Given the description of an element on the screen output the (x, y) to click on. 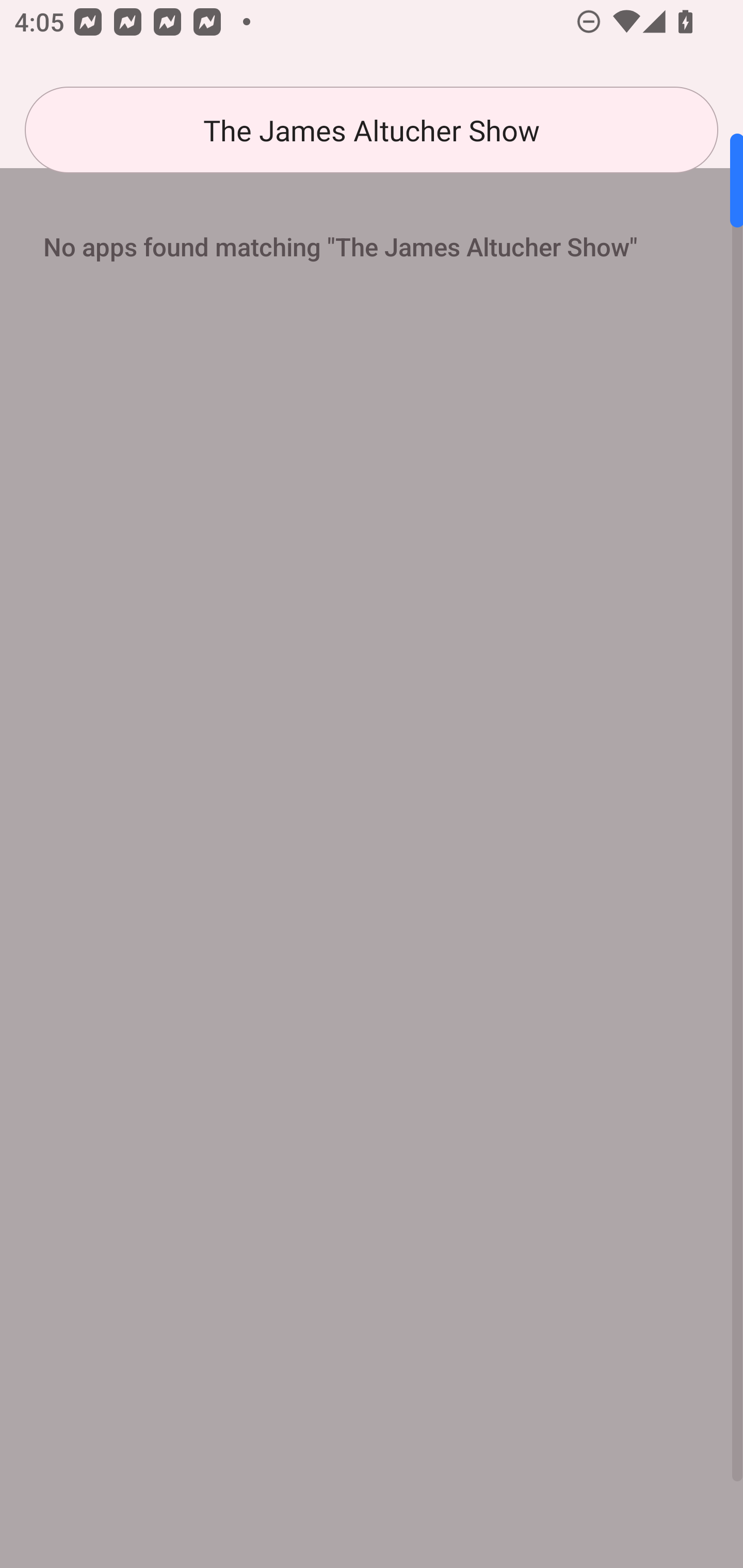
The James Altucher Show (371, 130)
